Given the description of an element on the screen output the (x, y) to click on. 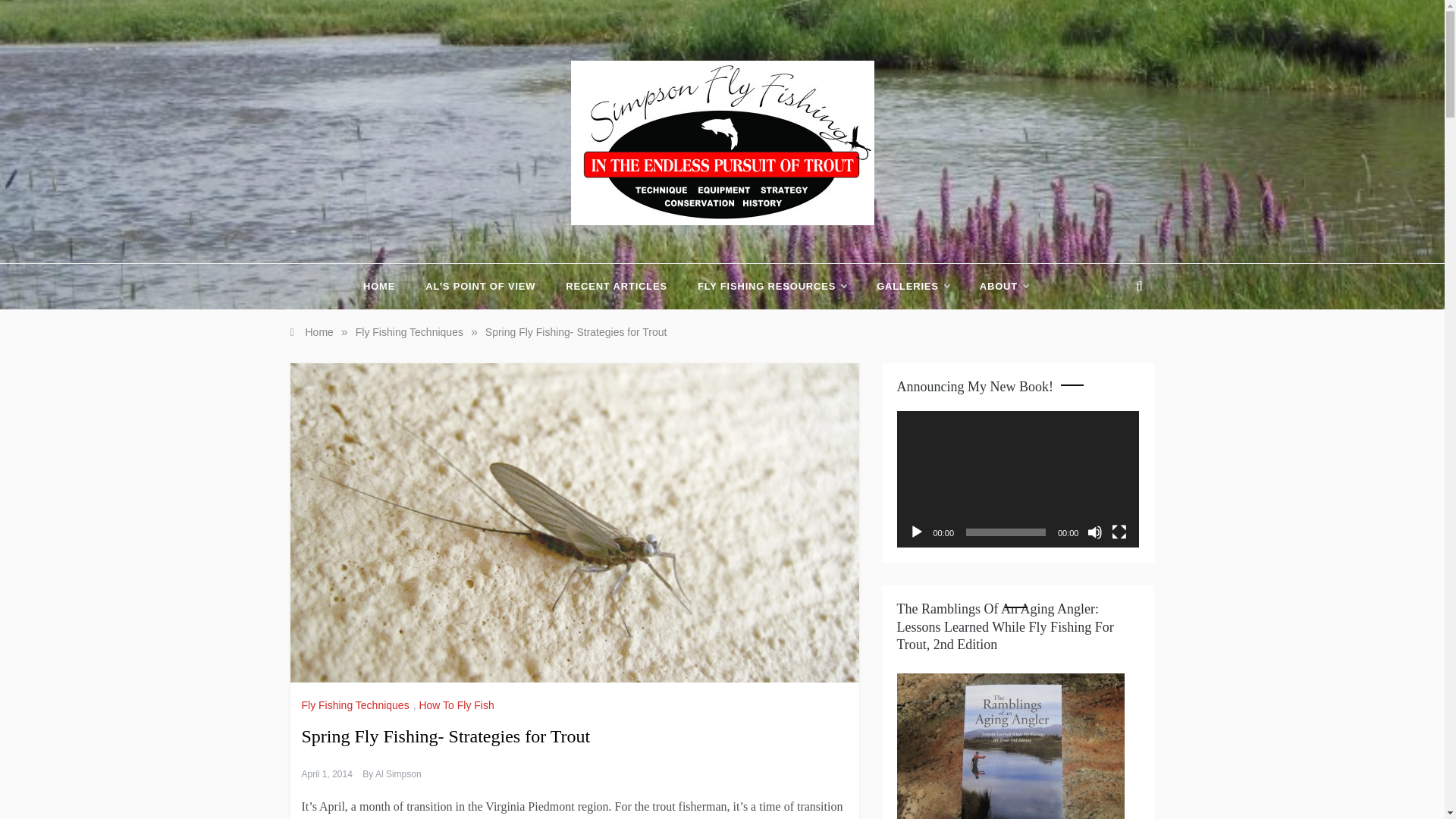
Home (311, 331)
How To Fly Fish (458, 705)
April 1, 2014 (326, 774)
GALLERIES (912, 286)
SIMPSON FLY FISHING (697, 238)
HOME (386, 286)
RECENT ARTICLES (616, 286)
Spring Fly Fishing- Strategies for Trout (575, 331)
FLY FISHING RESOURCES (771, 286)
Fly Fishing Techniques (357, 705)
Mute (1094, 531)
Play (915, 531)
Al Simpson (398, 774)
Fly Fishing Techniques (409, 331)
ABOUT (995, 286)
